Given the description of an element on the screen output the (x, y) to click on. 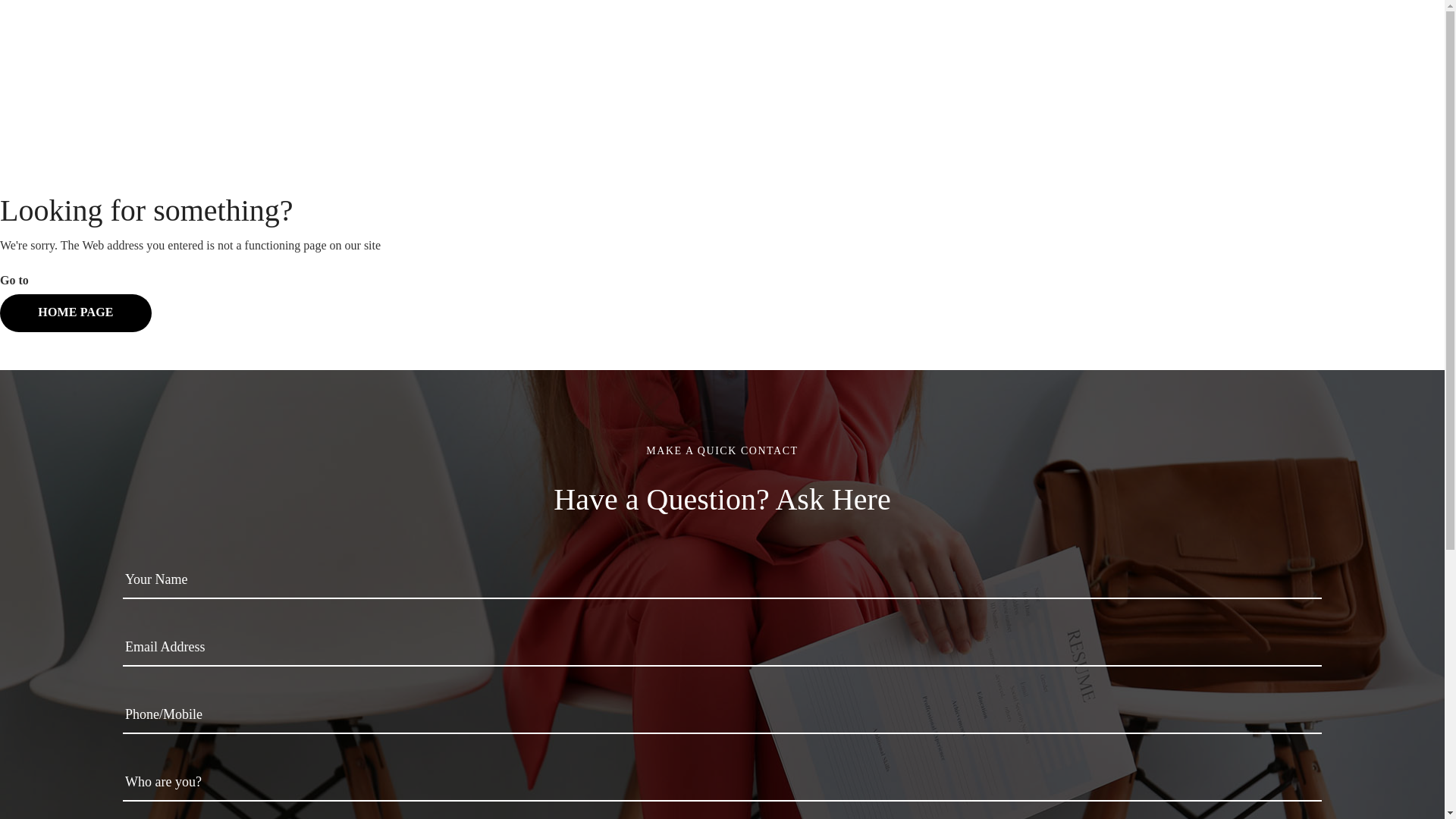
HOME PAGE Element type: text (75, 313)
03 8842 4733 Element type: text (1321, 48)
